Given the description of an element on the screen output the (x, y) to click on. 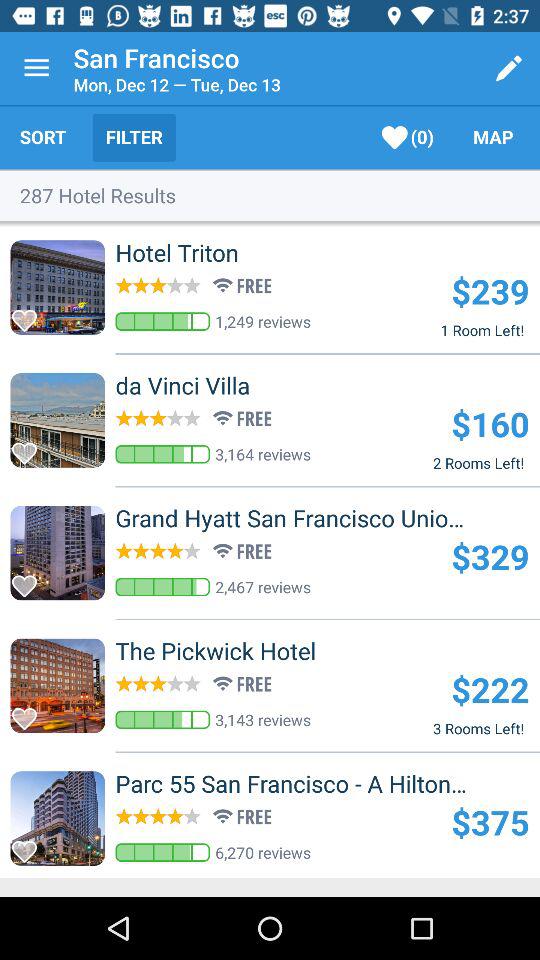
favorite this (30, 314)
